Given the description of an element on the screen output the (x, y) to click on. 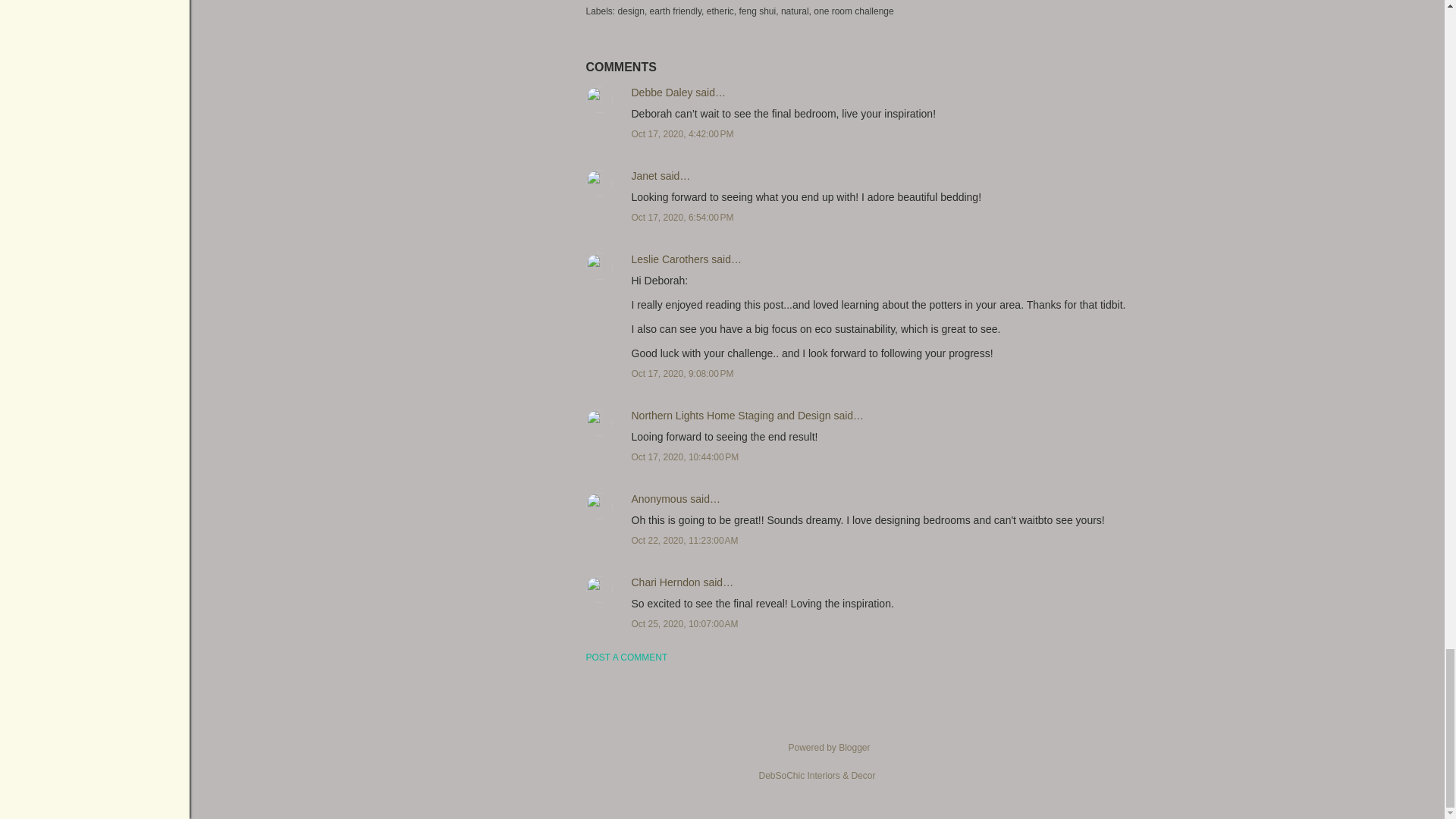
design (632, 10)
etheric (721, 10)
feng shui (757, 10)
Debbe Daley (661, 92)
one room challenge (853, 10)
Email Post (643, 1)
natural (795, 10)
earth friendly (676, 10)
comment permalink (681, 133)
